Given the description of an element on the screen output the (x, y) to click on. 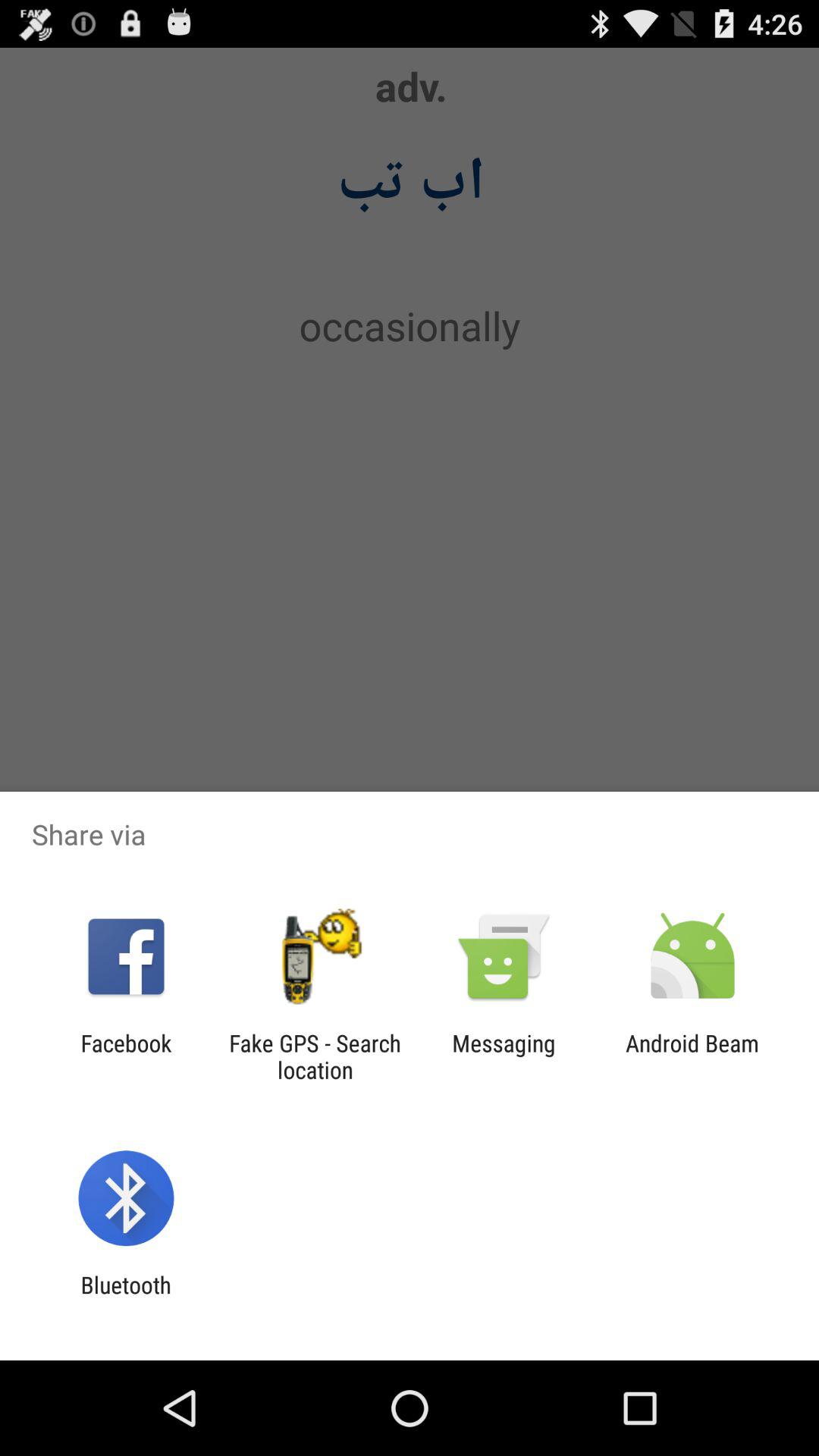
select item to the left of the messaging (314, 1056)
